Given the description of an element on the screen output the (x, y) to click on. 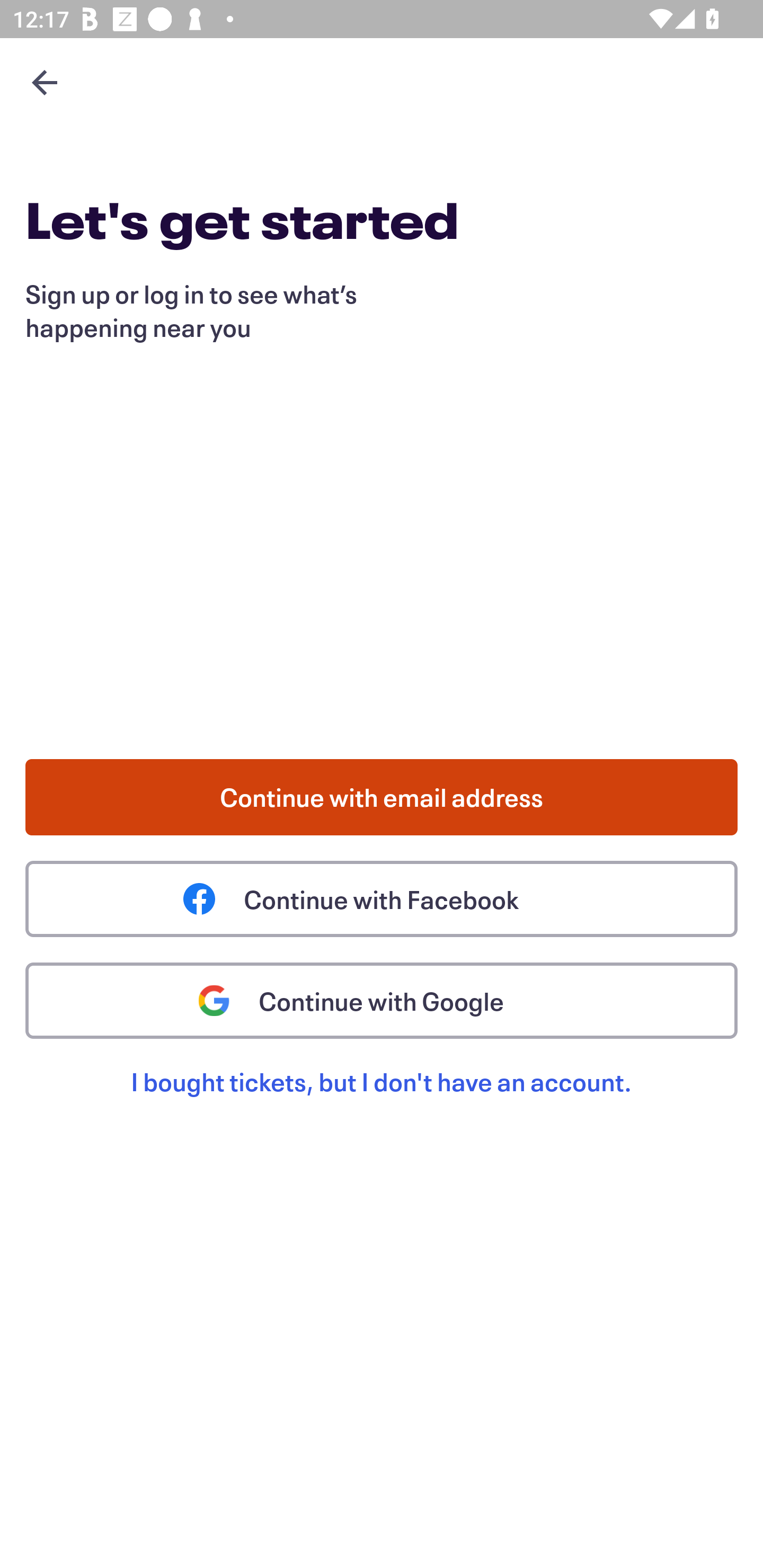
Navigate up (44, 82)
Continue with email address (381, 796)
I bought tickets, but I don't have an account. (381, 1101)
